Given the description of an element on the screen output the (x, y) to click on. 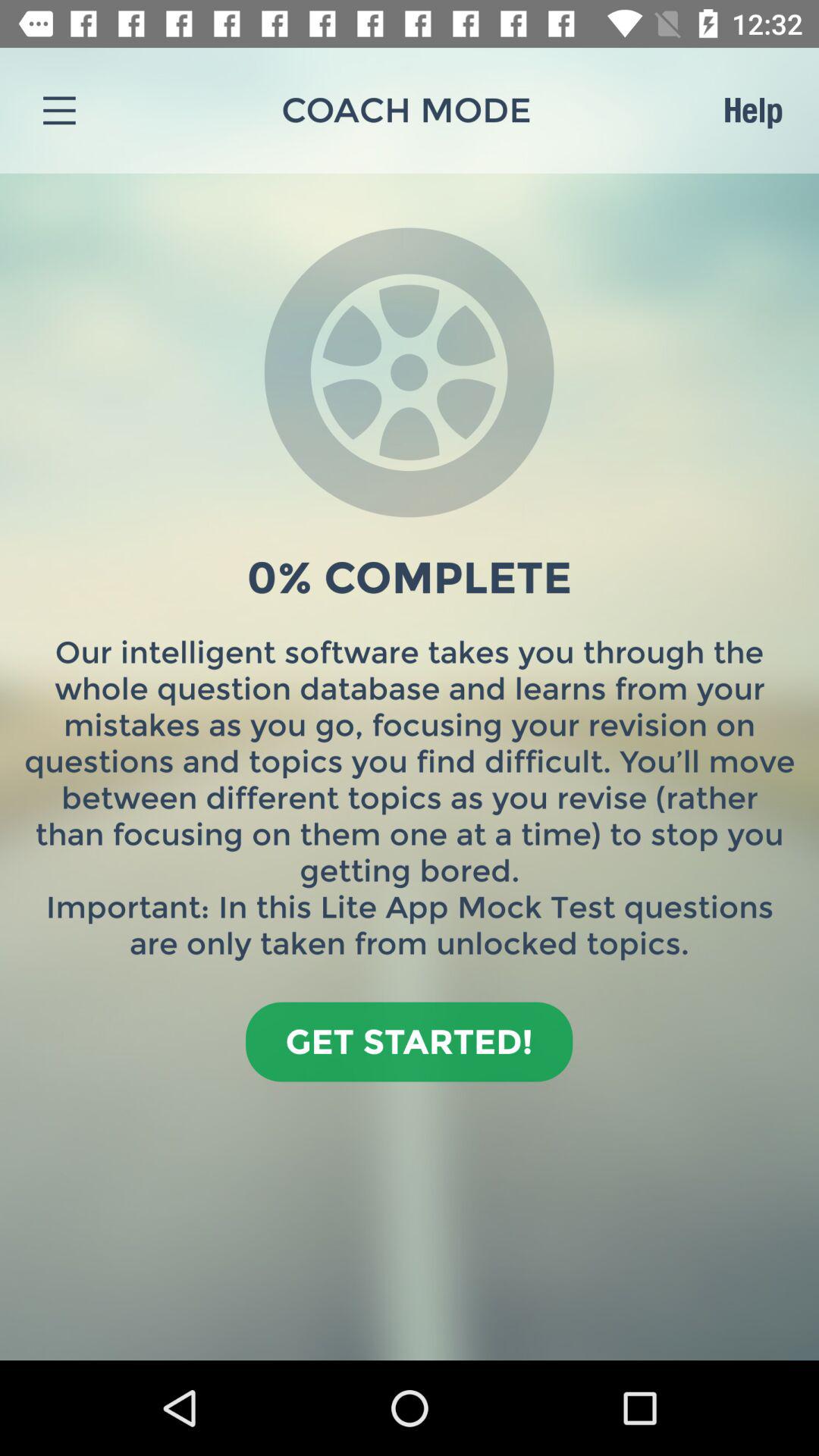
swipe to the get started! item (408, 1041)
